Given the description of an element on the screen output the (x, y) to click on. 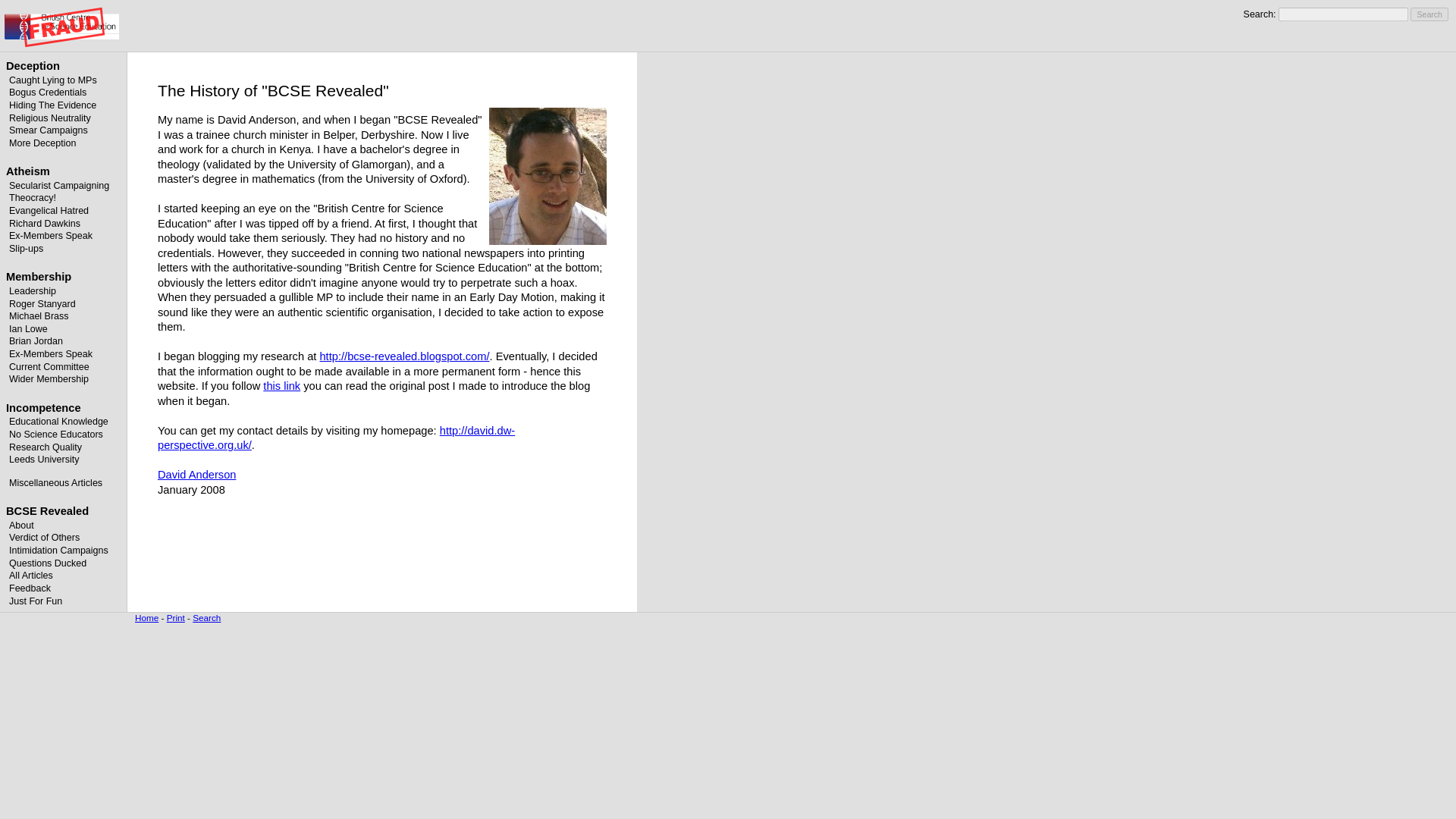
Leeds University (44, 459)
Roger Stanyard (41, 303)
Current Committee (48, 366)
Michael Brass (38, 316)
Religious Neutrality (49, 118)
Intimidation Campaigns (57, 550)
Feedback (29, 588)
Slip-ups (25, 248)
Miscellaneous Articles (54, 482)
Search (1429, 14)
Theocracy! (32, 197)
Caught Lying to MPs (52, 80)
No Science Educators (55, 434)
Hiding The Evidence (52, 104)
Smear Campaigns (47, 130)
